Given the description of an element on the screen output the (x, y) to click on. 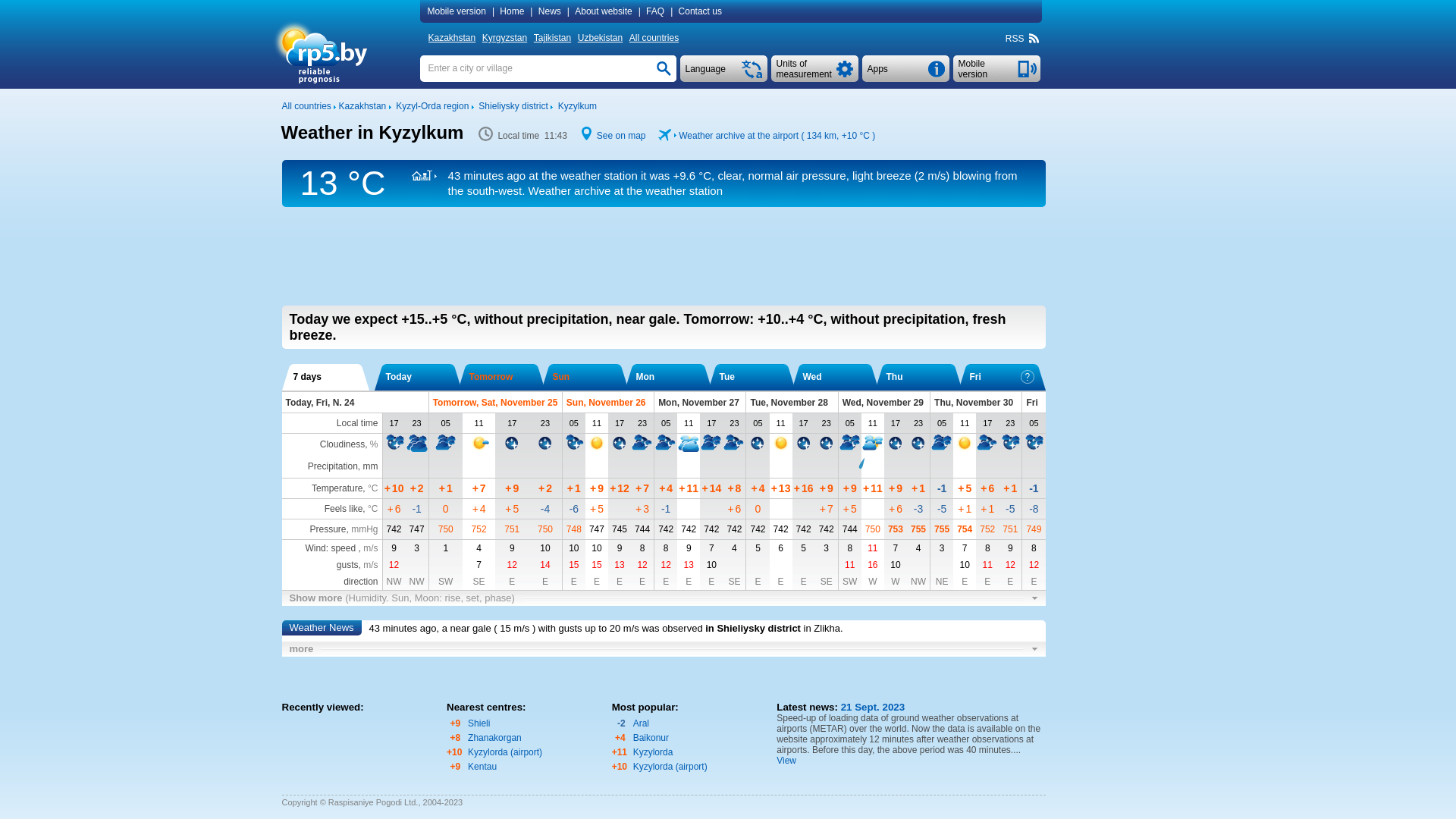
more Element type: text (663, 648)
Mon Element type: text (667, 377)
Kentau Element type: text (481, 766)
Sun Element type: text (584, 377)
Shieli Element type: text (478, 723)
in Shieliysky district Element type: text (752, 627)
See on map Element type: text (621, 135)
Zhanakorgan Element type: text (494, 737)
Pressure Element type: text (327, 529)
Feels like Element type: text (343, 508)
All countries Element type: text (306, 105)
Cloudiness Element type: text (342, 444)
21 Sept. 2023 Element type: text (870, 706)
Mobile version Element type: text (973, 68)
Kyrgyzstan Element type: text (506, 37)
FAQ Element type: text (656, 11)
Precipitation, mm Element type: text (342, 466)
Kyzylkum Element type: text (577, 105)
Uzbekistan Element type: text (601, 37)
Thu Element type: text (917, 377)
Mobile version Element type: text (458, 11)
View Element type: text (786, 760)
Contact us Element type: text (701, 11)
Aral Element type: text (641, 723)
Baikonur Element type: text (650, 737)
About website Element type: text (604, 11)
Mobile version Element type: text (995, 68)
Advertisement Element type: hover (663, 256)
Fri Element type: text (1001, 377)
Kyzyl-Orda region Element type: text (431, 105)
Tomorrow Element type: text (500, 377)
Temperature Element type: text (336, 488)
Wind: speed , m/s Element type: text (340, 547)
Kyzylorda Element type: text (653, 751)
Kazakhstan Element type: text (453, 37)
All countries Element type: text (655, 37)
News Element type: text (551, 11)
Home Element type: text (513, 11)
7 days Element type: text (324, 377)
Tajikistan Element type: text (553, 37)
Show more (Humidity. Sun, Moon: rise, set, phase) Element type: text (663, 597)
in Zlikha Element type: text (821, 627)
Advertisement Element type: hover (1228, 403)
Tue Element type: text (750, 377)
Shieliysky district Element type: text (512, 105)
Local time Element type: text (357, 422)
Kyzylorda (airport) Element type: text (504, 751)
Kyzylorda (airport) Element type: text (670, 766)
Wed Element type: text (834, 377)
Today Element type: text (417, 377)
Kazakhstan Element type: text (362, 105)
